Given the description of an element on the screen output the (x, y) to click on. 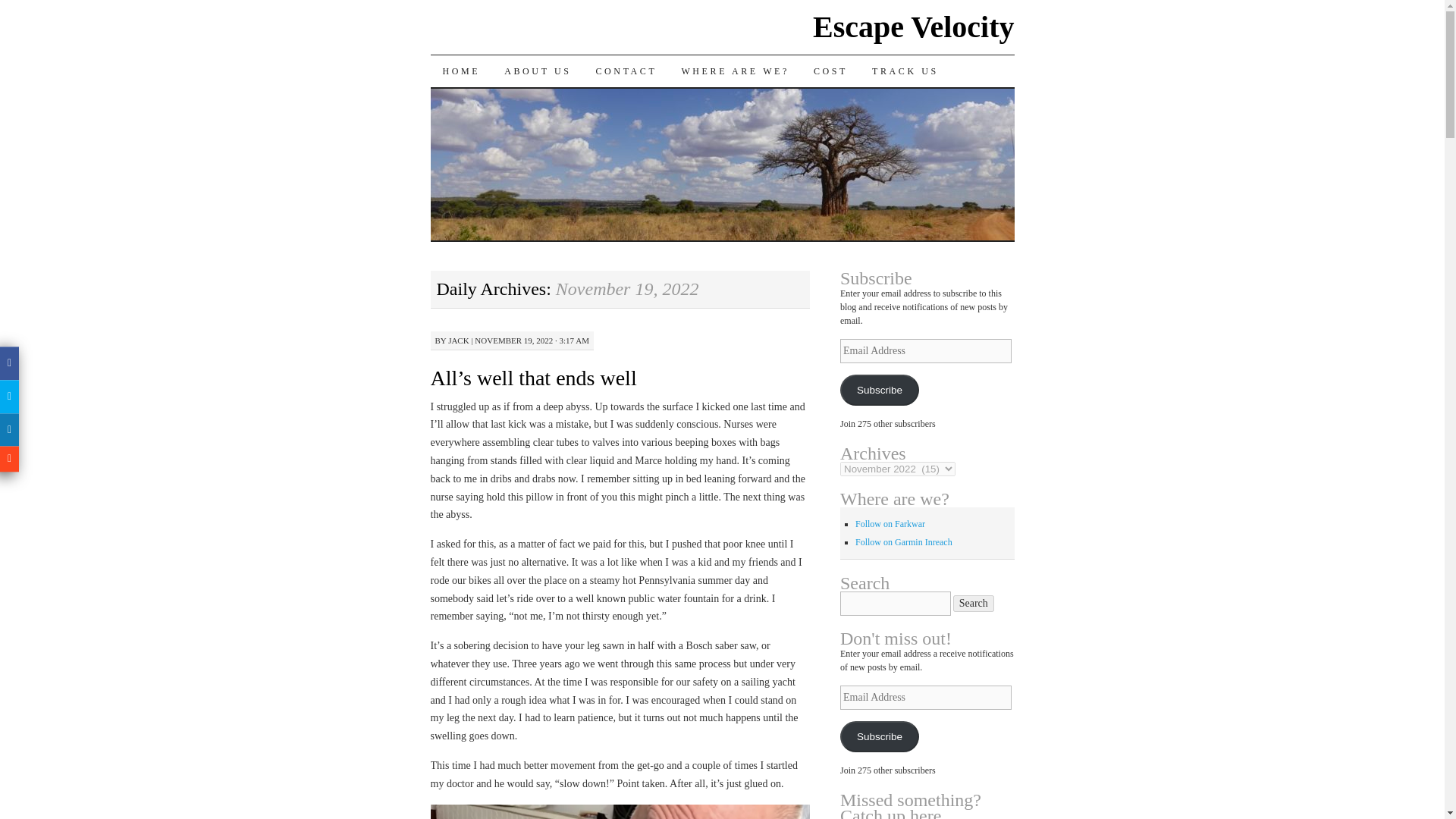
Follow on Farkwar (890, 523)
COST (831, 70)
TRACK US (905, 70)
Escape Velocity (913, 26)
View all posts by Jack (458, 339)
Escape Velocity (913, 26)
Search (973, 603)
WHERE ARE WE? (735, 70)
Follow on Garmin Inreach (904, 542)
Search (973, 603)
JACK (458, 339)
Subscribe (879, 389)
HOME (461, 70)
CONTACT (626, 70)
ABOUT US (537, 70)
